Given the description of an element on the screen output the (x, y) to click on. 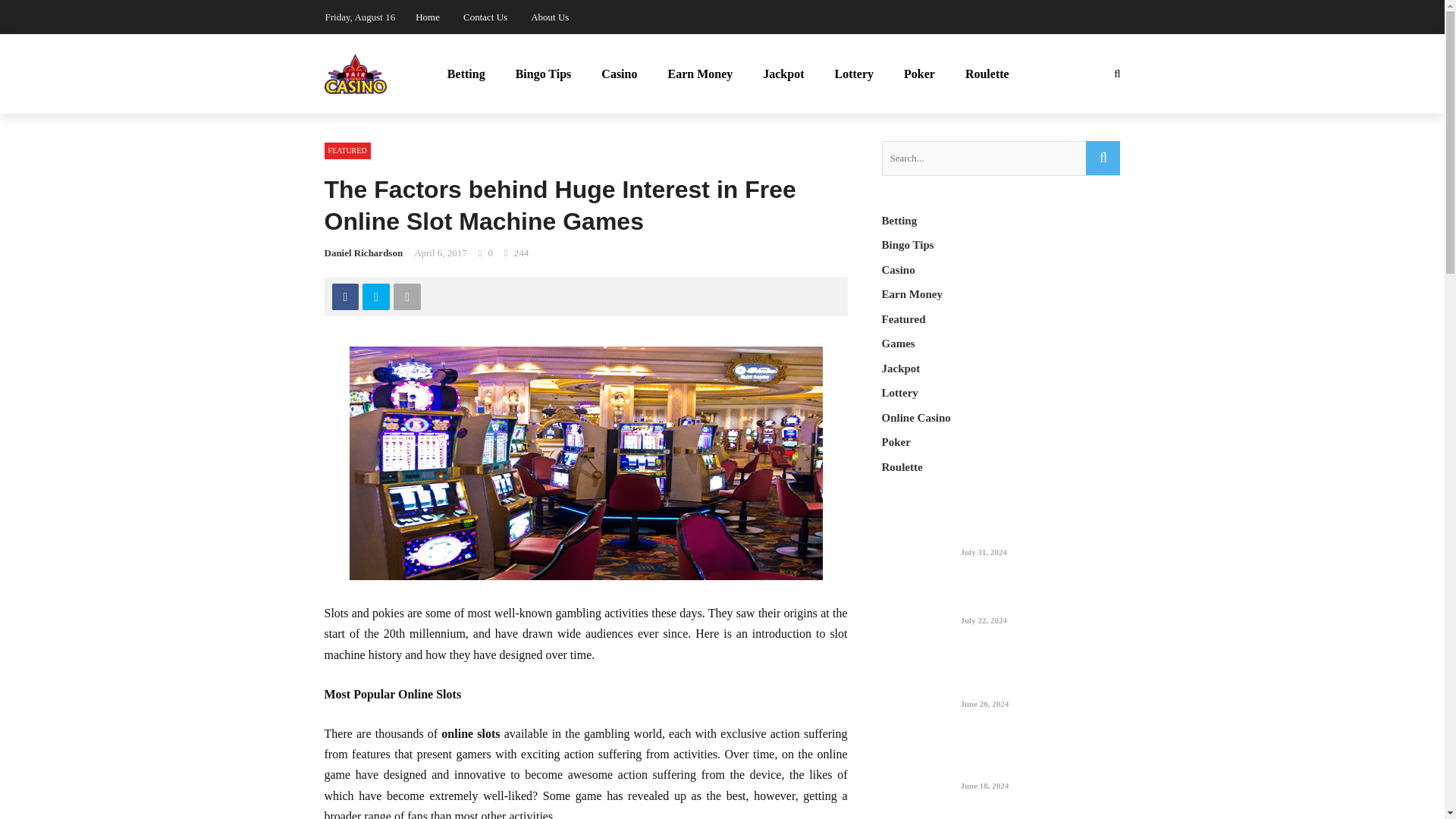
FEATURED (347, 150)
Contact Us (484, 16)
Roulette (987, 73)
Bingo Tips (543, 73)
Daniel Richardson (363, 252)
Earn Money (700, 73)
Jackpot (783, 73)
About Us (550, 16)
Home (426, 16)
